Given the description of an element on the screen output the (x, y) to click on. 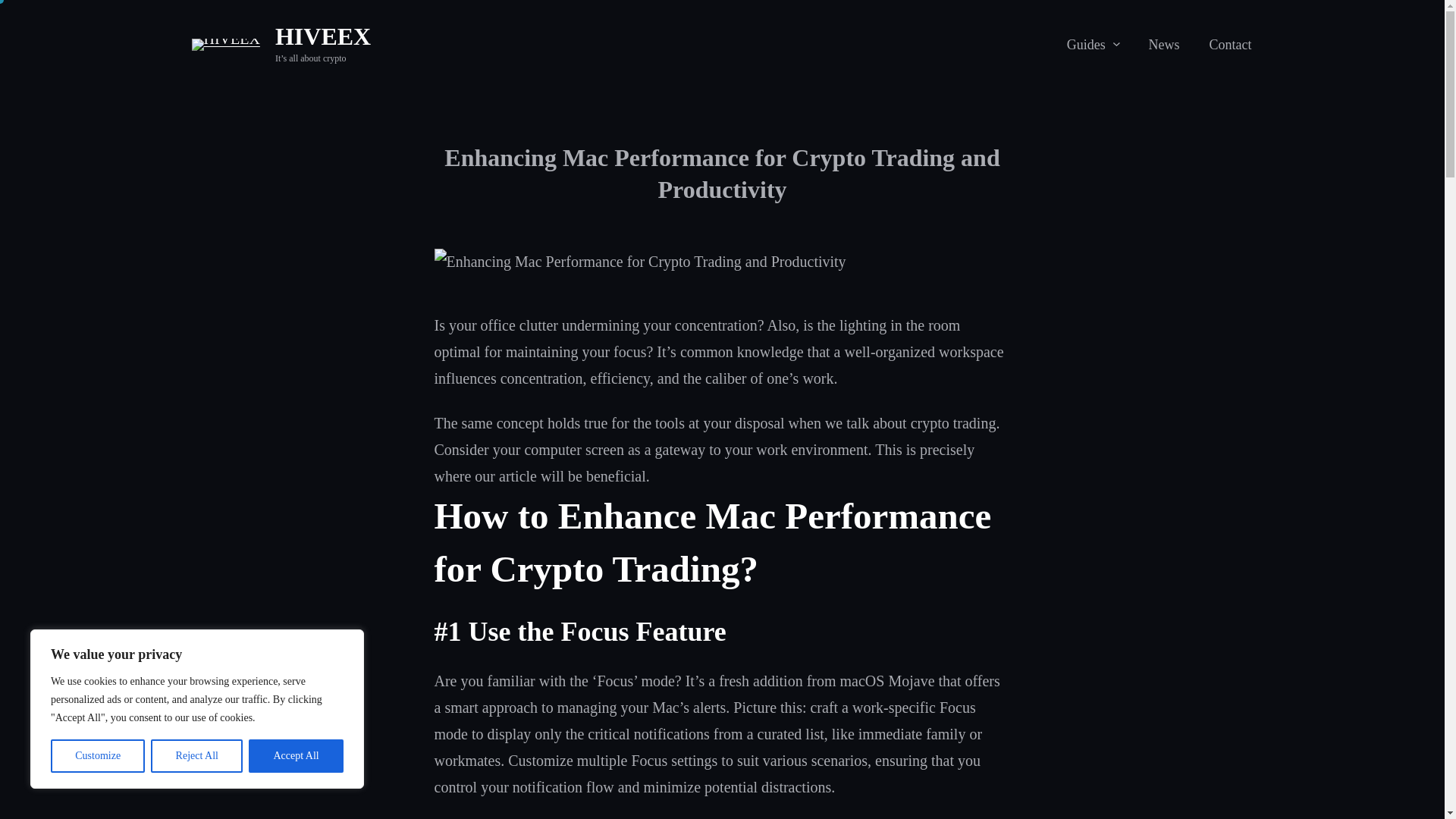
Contact (1229, 44)
Reject All (197, 756)
Accept All (295, 756)
HIVEEX (323, 35)
Customize (97, 756)
